Given the description of an element on the screen output the (x, y) to click on. 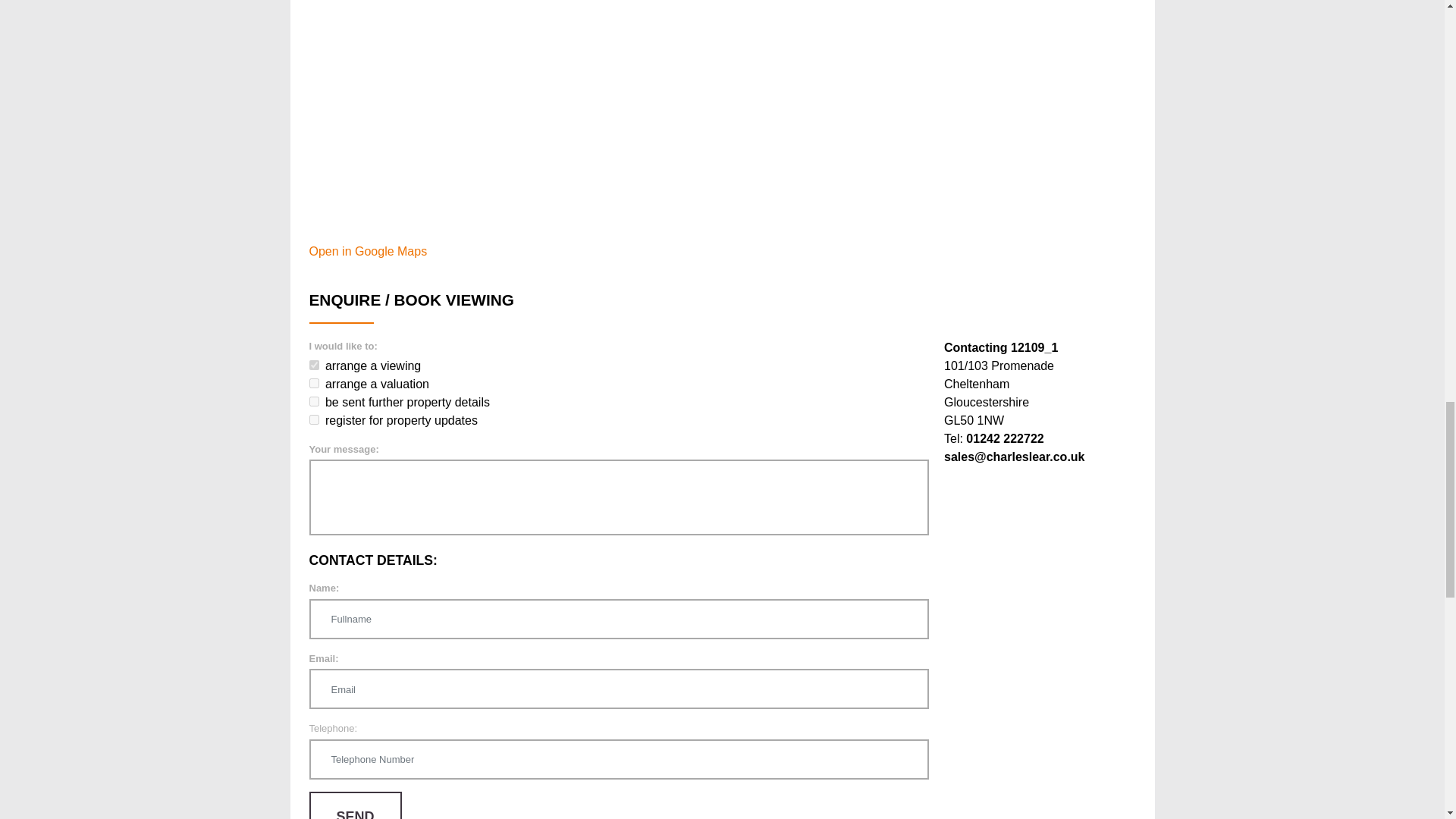
true (313, 419)
Send (354, 805)
true (313, 365)
true (313, 383)
true (313, 401)
